Given the description of an element on the screen output the (x, y) to click on. 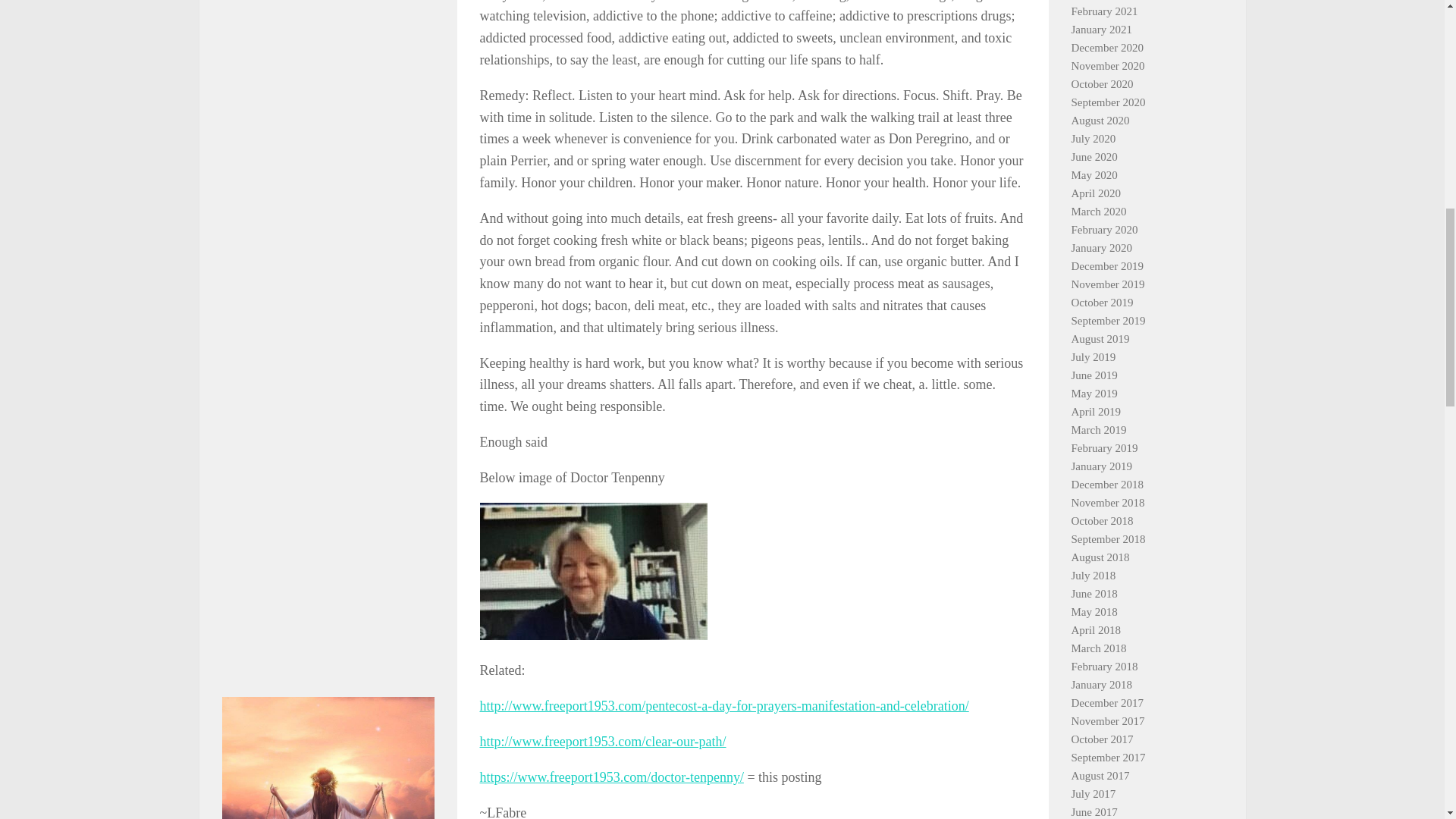
Big Pharma exec turned Whistleblower (327, 579)
